Given the description of an element on the screen output the (x, y) to click on. 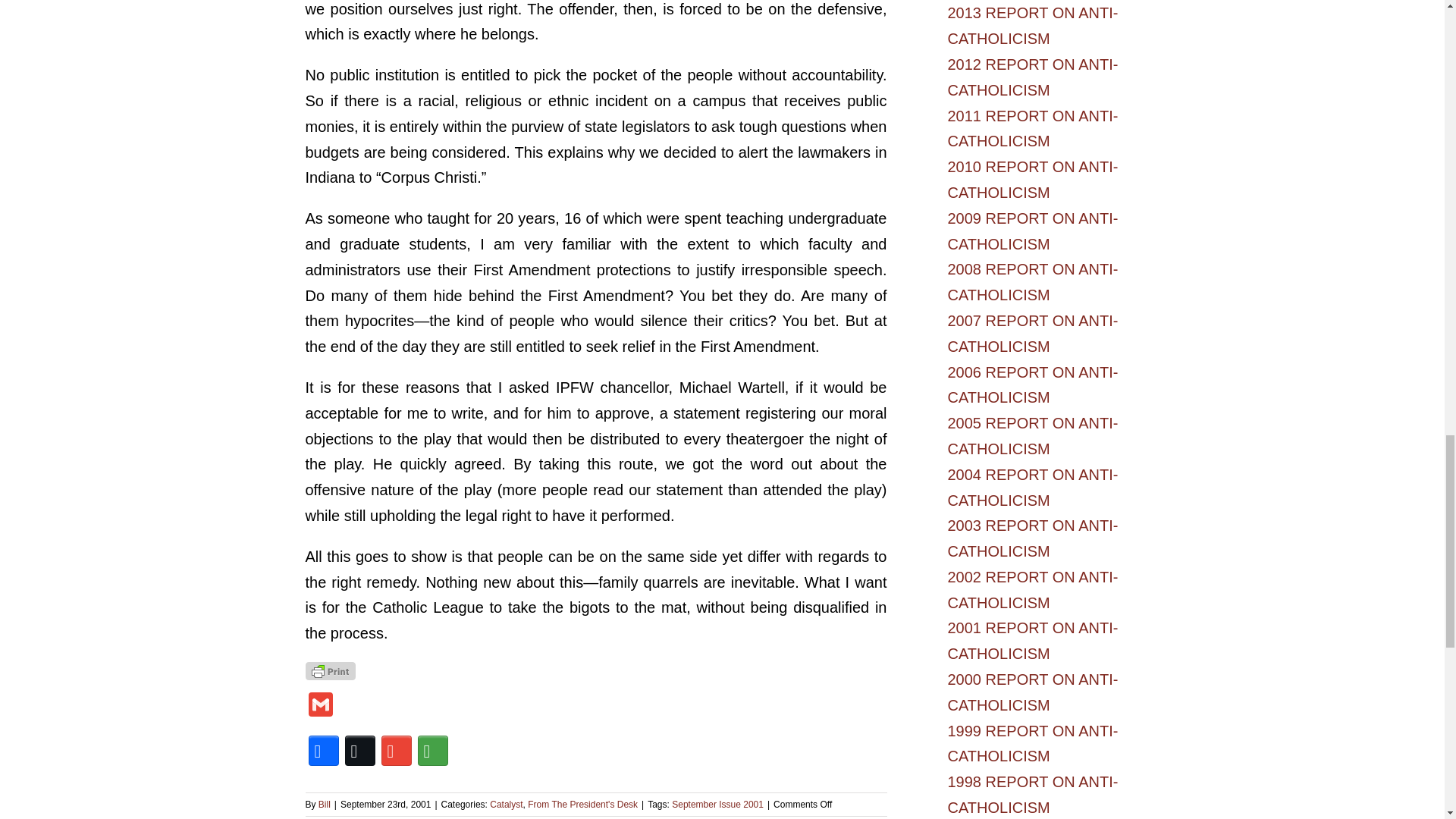
Google Gmail (395, 750)
Posts by Bill (324, 804)
More Options (431, 750)
Gmail (319, 706)
Facebook (322, 750)
